Given the description of an element on the screen output the (x, y) to click on. 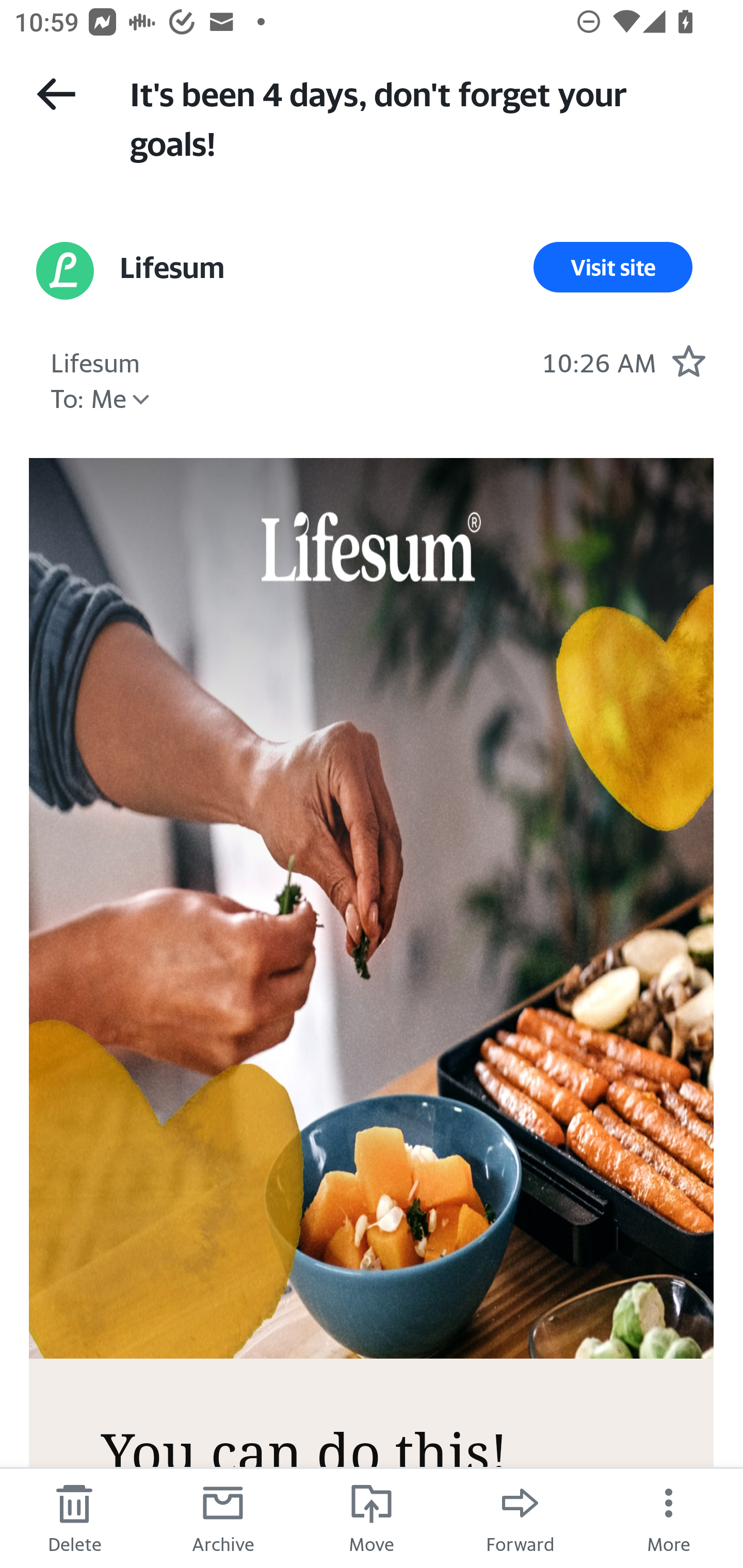
Back (55, 93)
It's been 4 days, don't forget your goals! (418, 116)
View all messages from sender (64, 270)
Visit site Visit Site Link (612, 267)
Lifesum Sender Lifesum (171, 266)
Lifesum Sender Lifesum (95, 360)
Mark as starred. (688, 361)
Delete (74, 1517)
Archive (222, 1517)
Move (371, 1517)
Forward (519, 1517)
More (668, 1517)
